Given the description of an element on the screen output the (x, y) to click on. 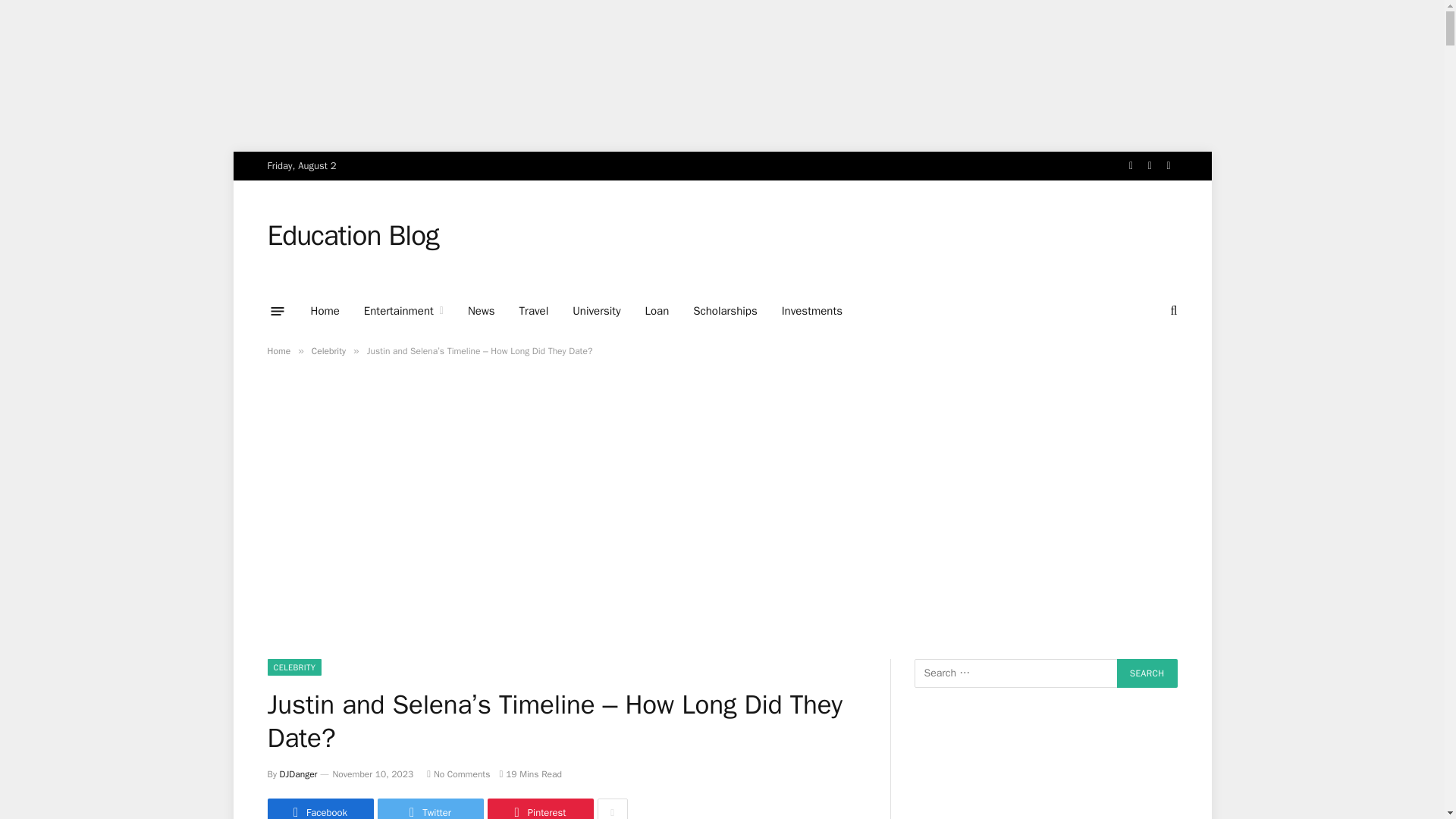
Search (1146, 673)
Travel (533, 310)
Scholarships (724, 310)
Entertainment (403, 310)
Home (277, 350)
News (480, 310)
Show More Social Sharing (611, 808)
CELEBRITY (293, 667)
Share on Facebook (319, 808)
Share on Pinterest (539, 808)
Search (1146, 673)
Investments (812, 310)
Education Blog (352, 235)
University (595, 310)
Celebrity (328, 350)
